Given the description of an element on the screen output the (x, y) to click on. 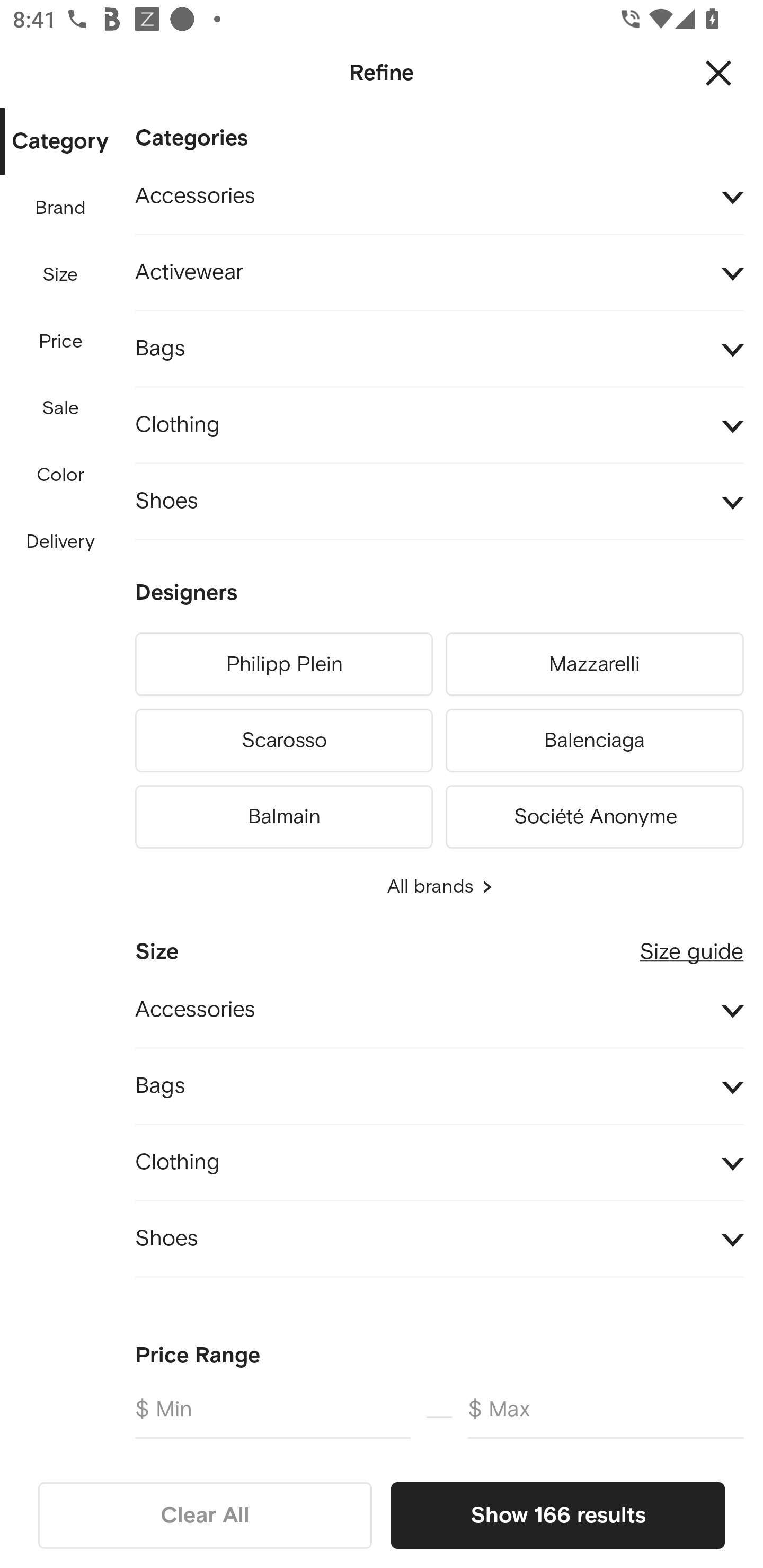
Category (60, 141)
Accessories (439, 196)
Brand (60, 208)
Activewear (439, 272)
Size (60, 274)
Price (60, 342)
Bags (439, 348)
Sale (60, 408)
Clothing (439, 425)
Color (60, 475)
Shoes (439, 501)
Delivery (60, 542)
Philipp Plein (283, 663)
Mazzarelli (594, 663)
Scarosso (283, 740)
Balenciaga (594, 740)
Balmain (283, 813)
Société Anonyme (594, 813)
All brands (439, 886)
Size guide (691, 944)
Accessories (439, 1010)
Bags (439, 1086)
Clothing (439, 1162)
Shoes (439, 1239)
$ Min (272, 1416)
$ Max (605, 1416)
Clear All (205, 1515)
Show 166 results (557, 1515)
